Given the description of an element on the screen output the (x, y) to click on. 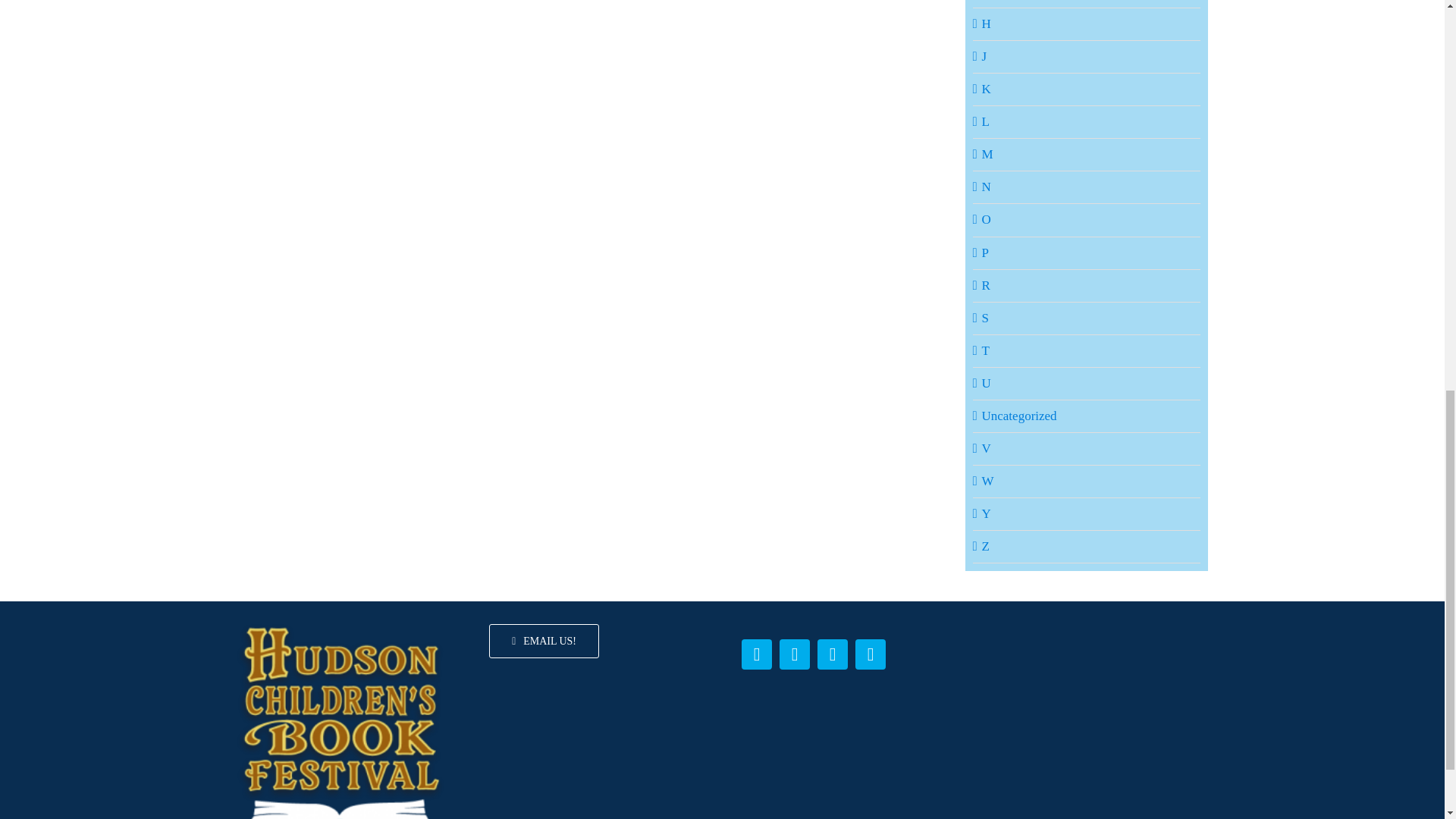
Email (870, 654)
H (1086, 23)
Instagram (831, 654)
X (793, 654)
hudsonbookfestivallogo (340, 721)
Facebook (756, 654)
